Given the description of an element on the screen output the (x, y) to click on. 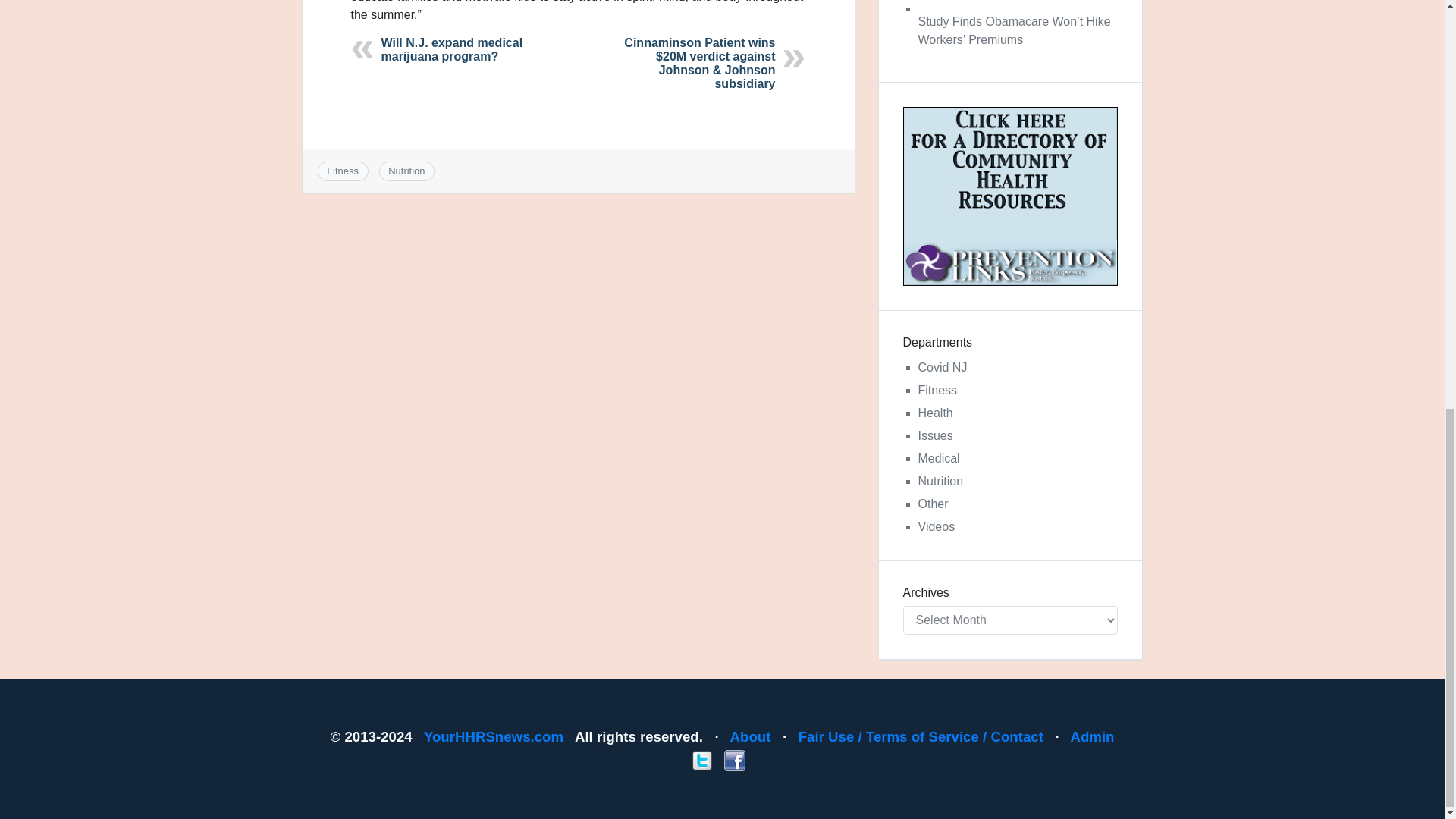
Fitness (342, 170)
Videos (936, 526)
Nutrition (939, 481)
Admin (1091, 736)
YourHHRSnews.com (493, 736)
Nutrition (406, 170)
Covid NJ (941, 367)
Other (932, 503)
Health (934, 412)
Medical (938, 458)
Issues (934, 435)
Will N.J. expand medical marijuana program? (451, 49)
Fitness (936, 390)
About (750, 736)
